Given the description of an element on the screen output the (x, y) to click on. 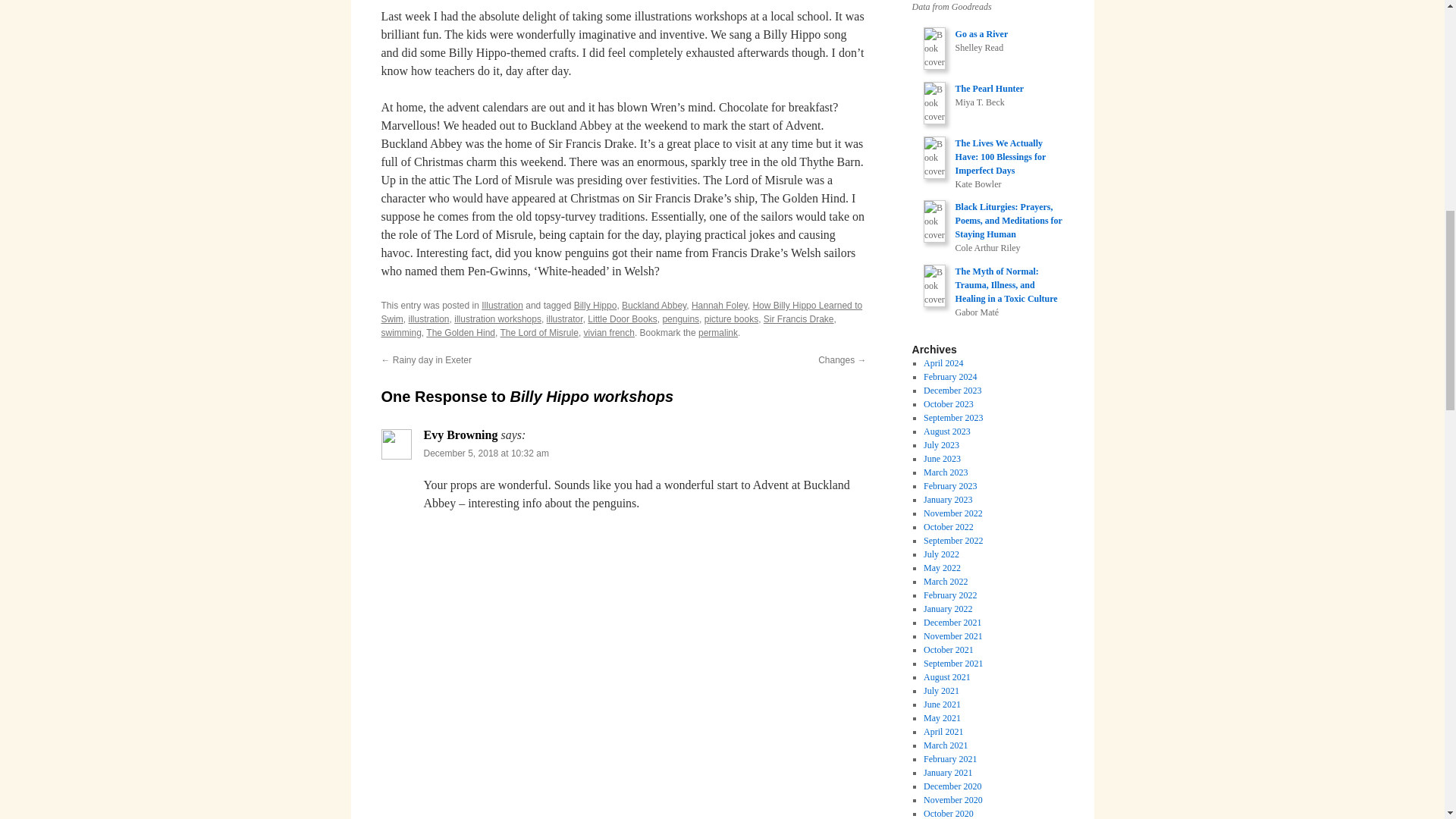
Illustration (501, 305)
How Billy Hippo Learned to Swim (620, 312)
penguins (680, 318)
December 5, 2018 at 10:32 am (485, 452)
The Lord of Misrule (538, 332)
permalink (718, 332)
Hannah Foley (719, 305)
Buckland Abbey (653, 305)
Permalink to Billy Hippo workshops (718, 332)
vivian french (608, 332)
